Given the description of an element on the screen output the (x, y) to click on. 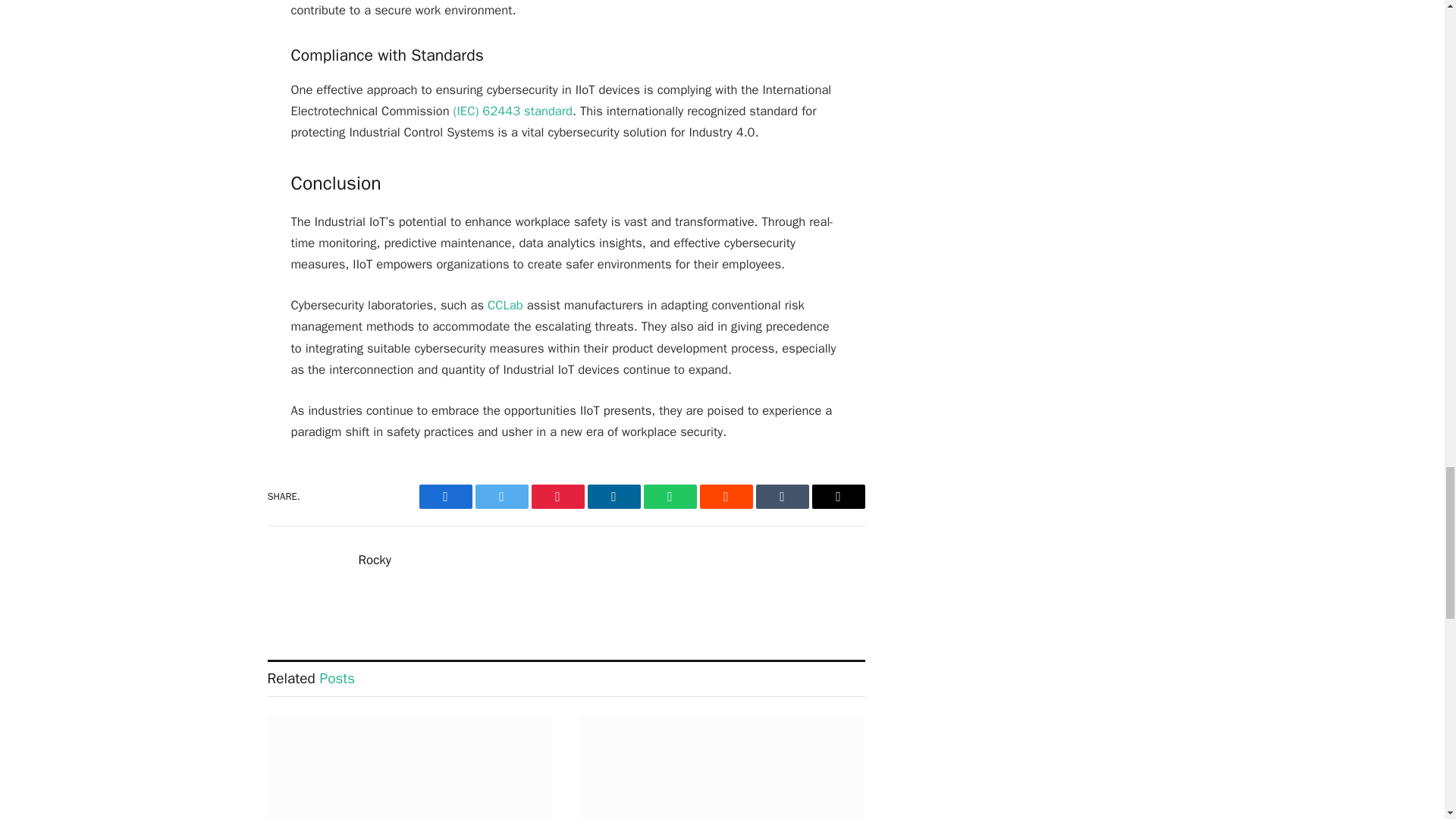
CCLab (504, 304)
LinkedIn (613, 496)
Rocky (374, 560)
Email (837, 496)
Reddit (725, 496)
WhatsApp (669, 496)
Tumblr (781, 496)
Facebook (445, 496)
Pinterest (557, 496)
Twitter (500, 496)
Share on Facebook (445, 496)
